Given the description of an element on the screen output the (x, y) to click on. 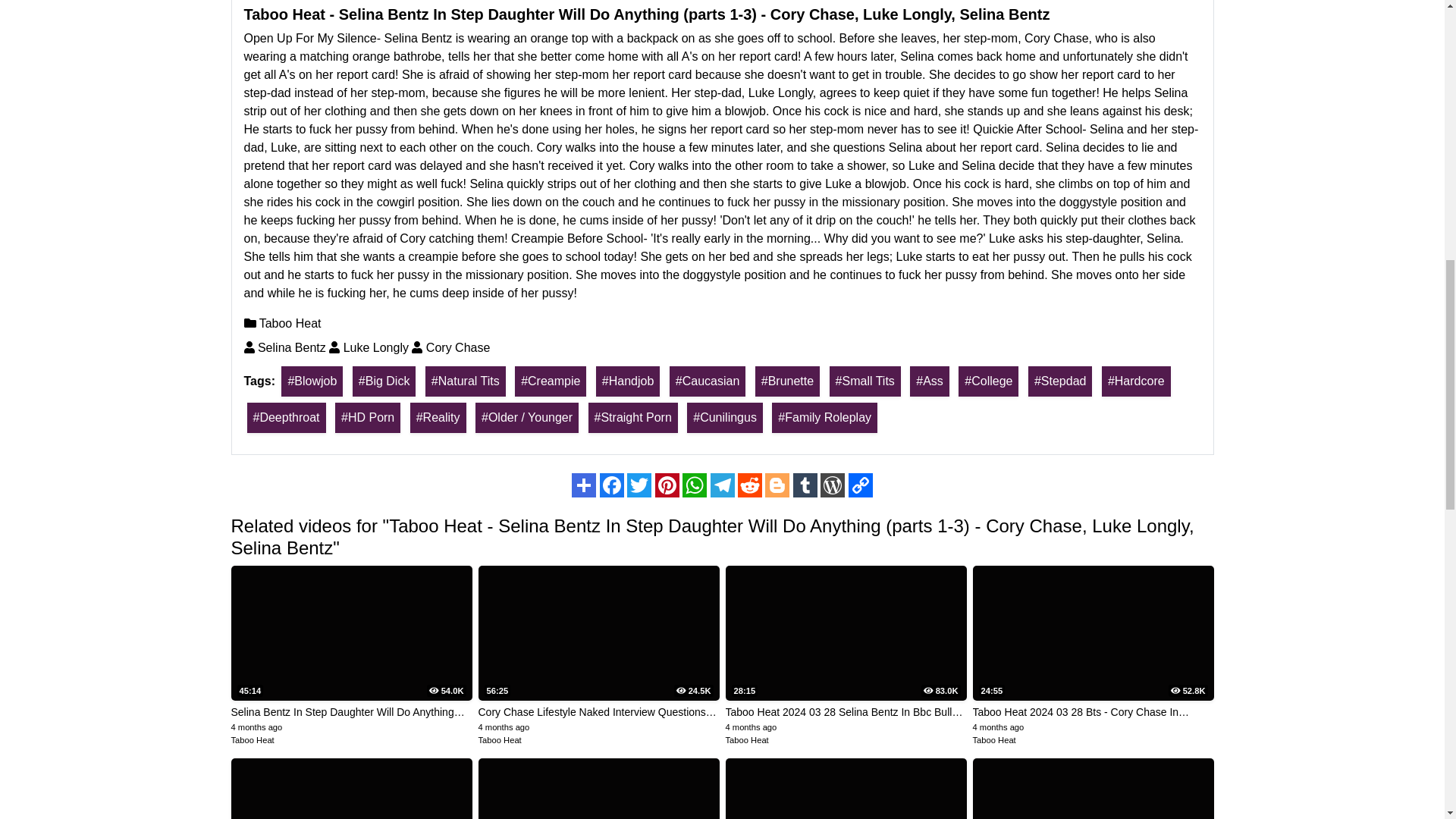
Taboo Heat (282, 323)
Stepdad (1060, 381)
Creampie (550, 381)
Luke Longly (369, 347)
Natural Tits (465, 381)
Deepthroat (286, 417)
Ass (929, 381)
Reality (437, 417)
Big Dick (384, 381)
Selina Bentz (285, 347)
